Given the description of an element on the screen output the (x, y) to click on. 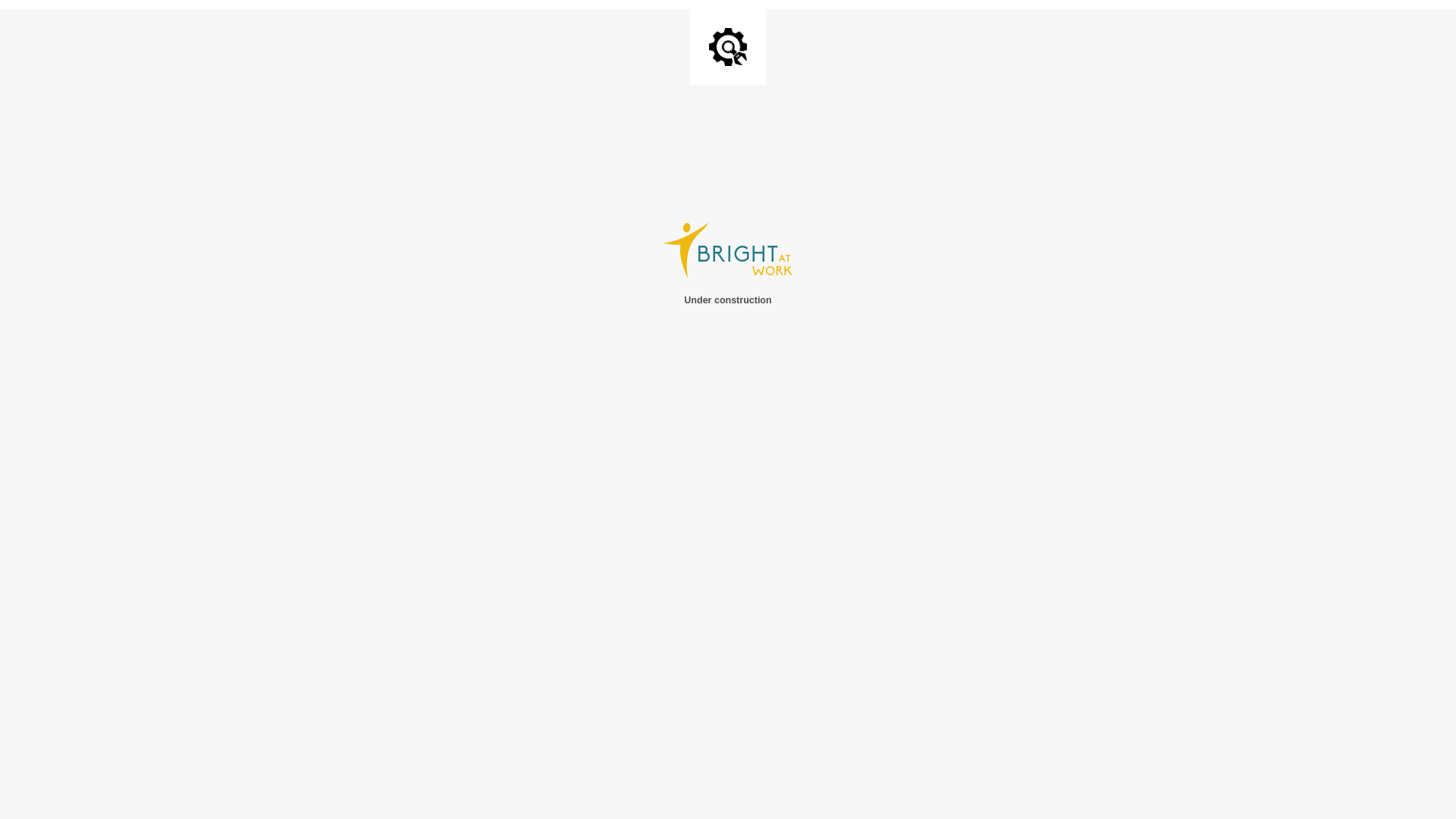
Site is Under Construction Element type: hover (727, 46)
